Given the description of an element on the screen output the (x, y) to click on. 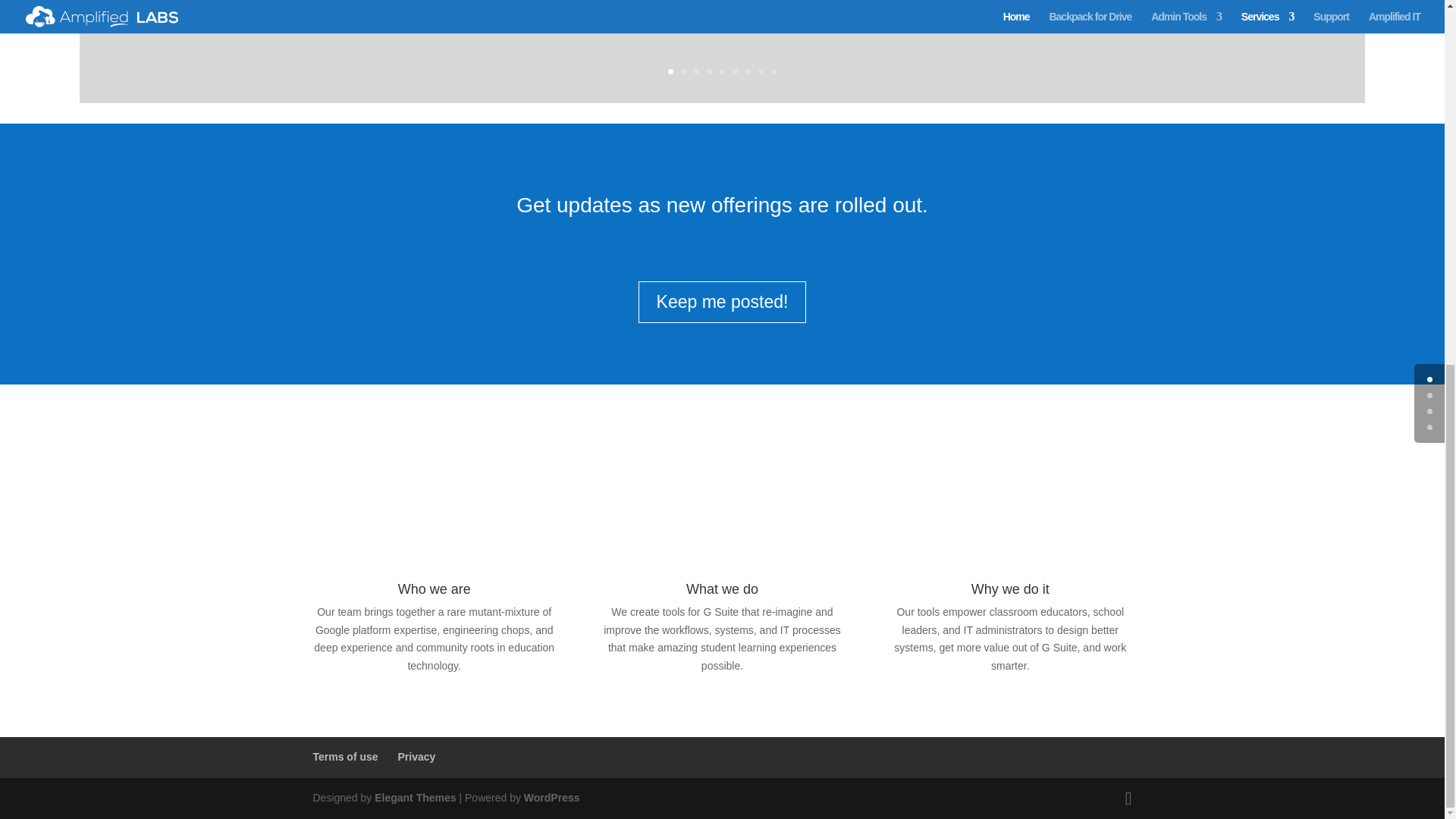
Premium WordPress Themes (414, 797)
